Given the description of an element on the screen output the (x, y) to click on. 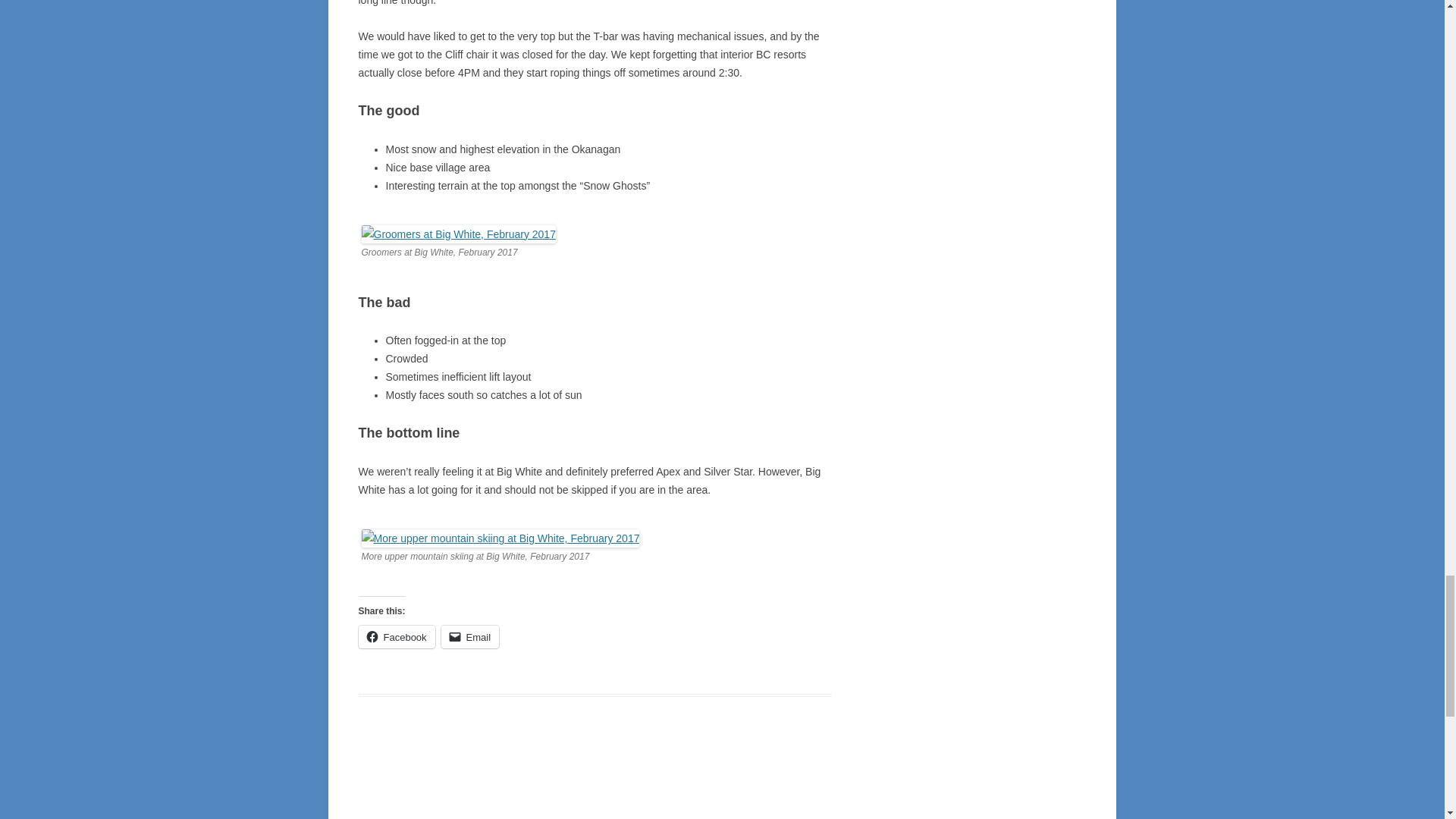
Click to email a link to a friend (470, 636)
Click to share on Facebook (395, 636)
